Given the description of an element on the screen output the (x, y) to click on. 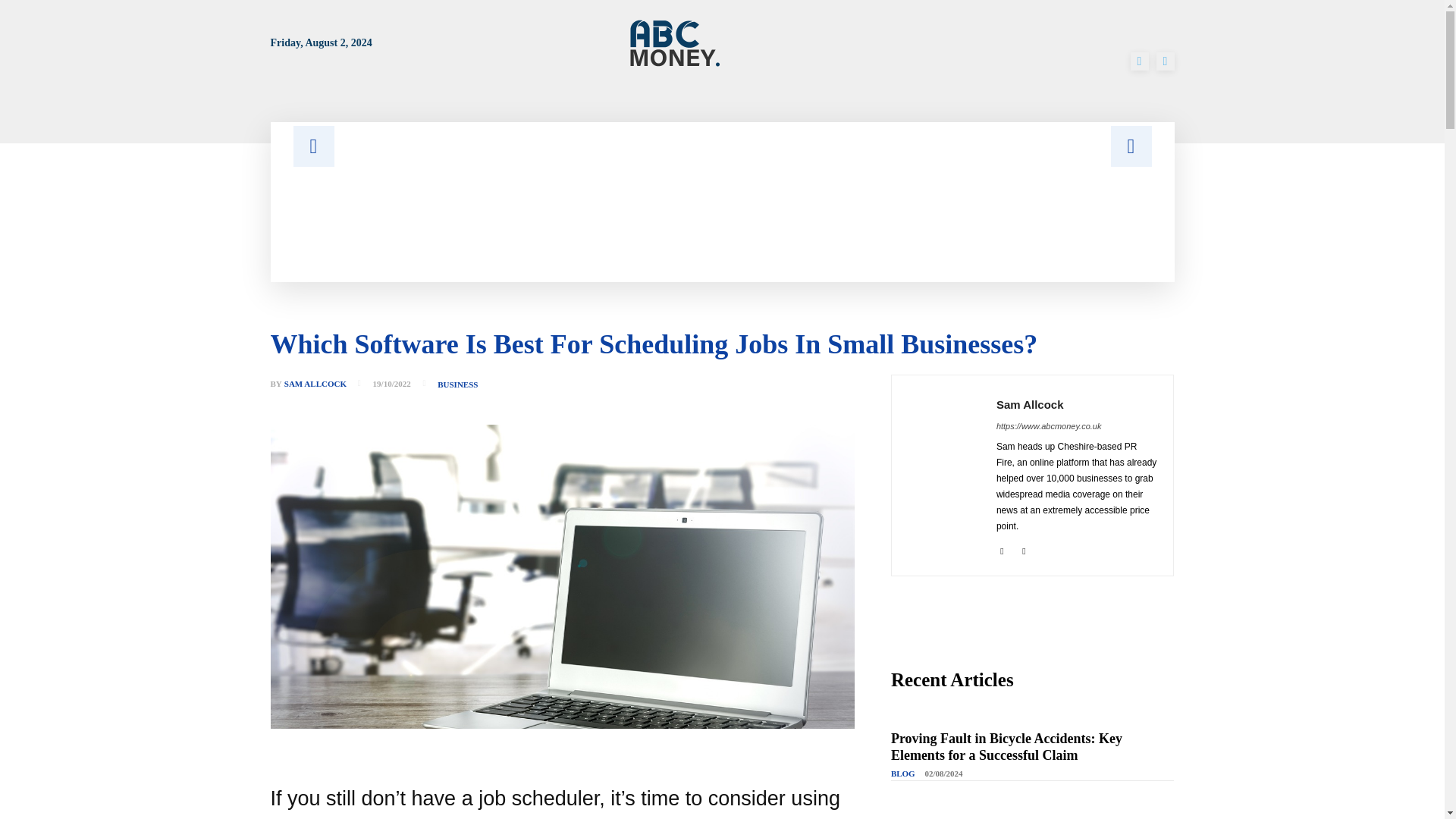
SAM ALLCOCK (314, 384)
Facebook (1138, 60)
Twitter (1023, 548)
Twitter (1164, 60)
BUSINESS (457, 384)
Linkedin (1001, 548)
